Given the description of an element on the screen output the (x, y) to click on. 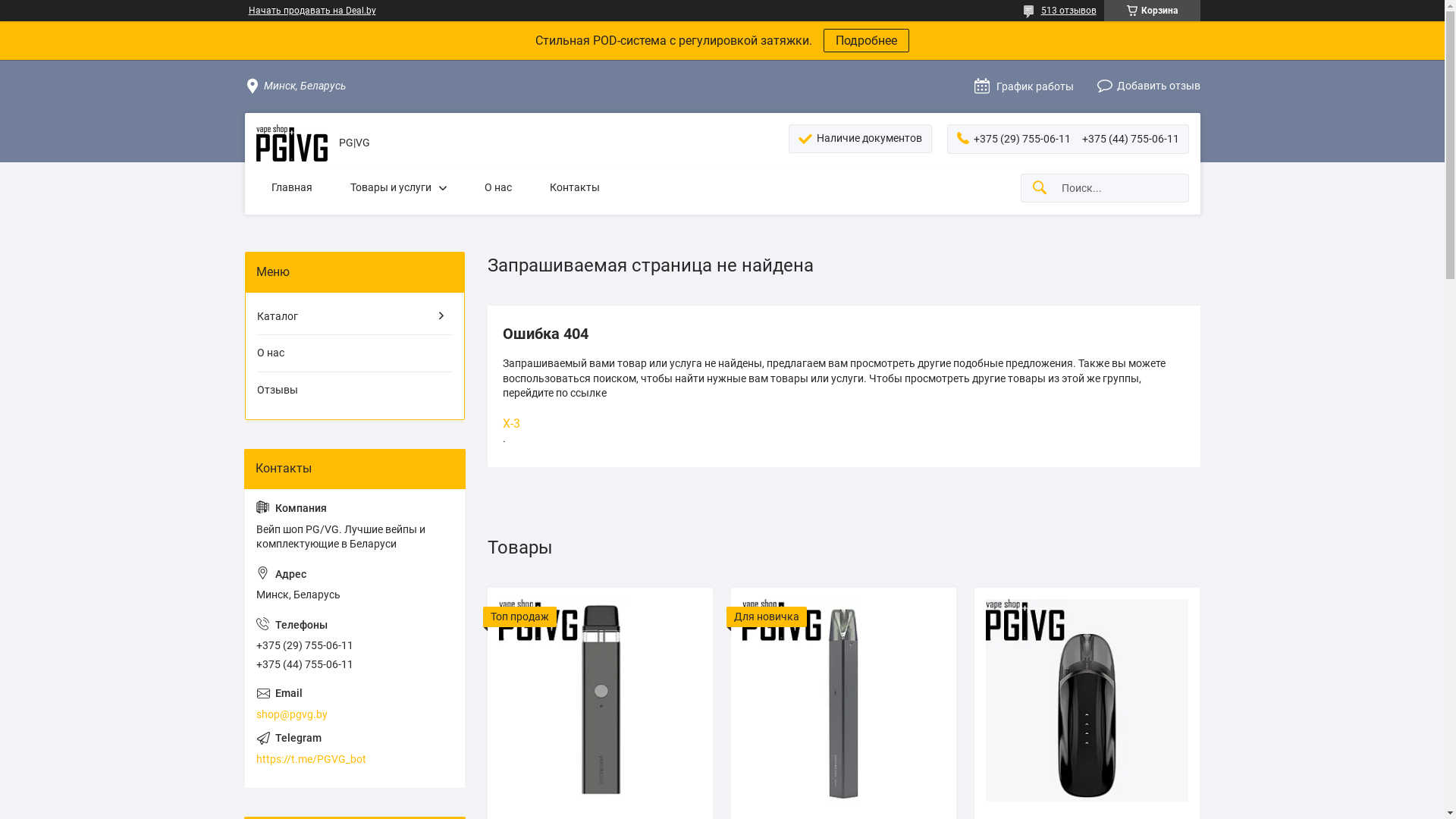
X-3 Element type: text (843, 423)
shop@pgvg.by Element type: text (354, 703)
https://t.me/PGVG_bot Element type: text (354, 748)
